Given the description of an element on the screen output the (x, y) to click on. 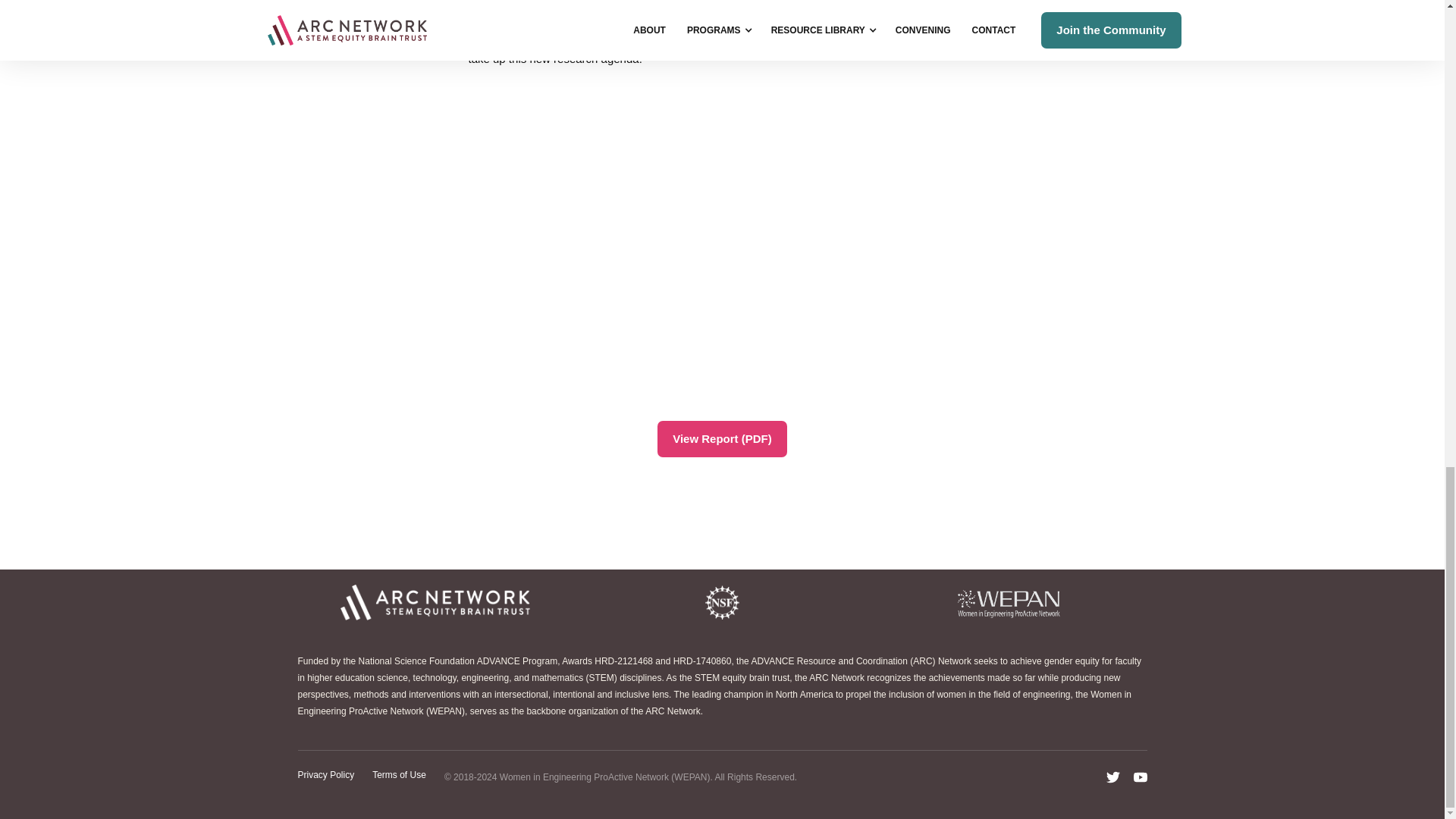
Terms of Use (399, 777)
Privacy Policy (325, 777)
